Given the description of an element on the screen output the (x, y) to click on. 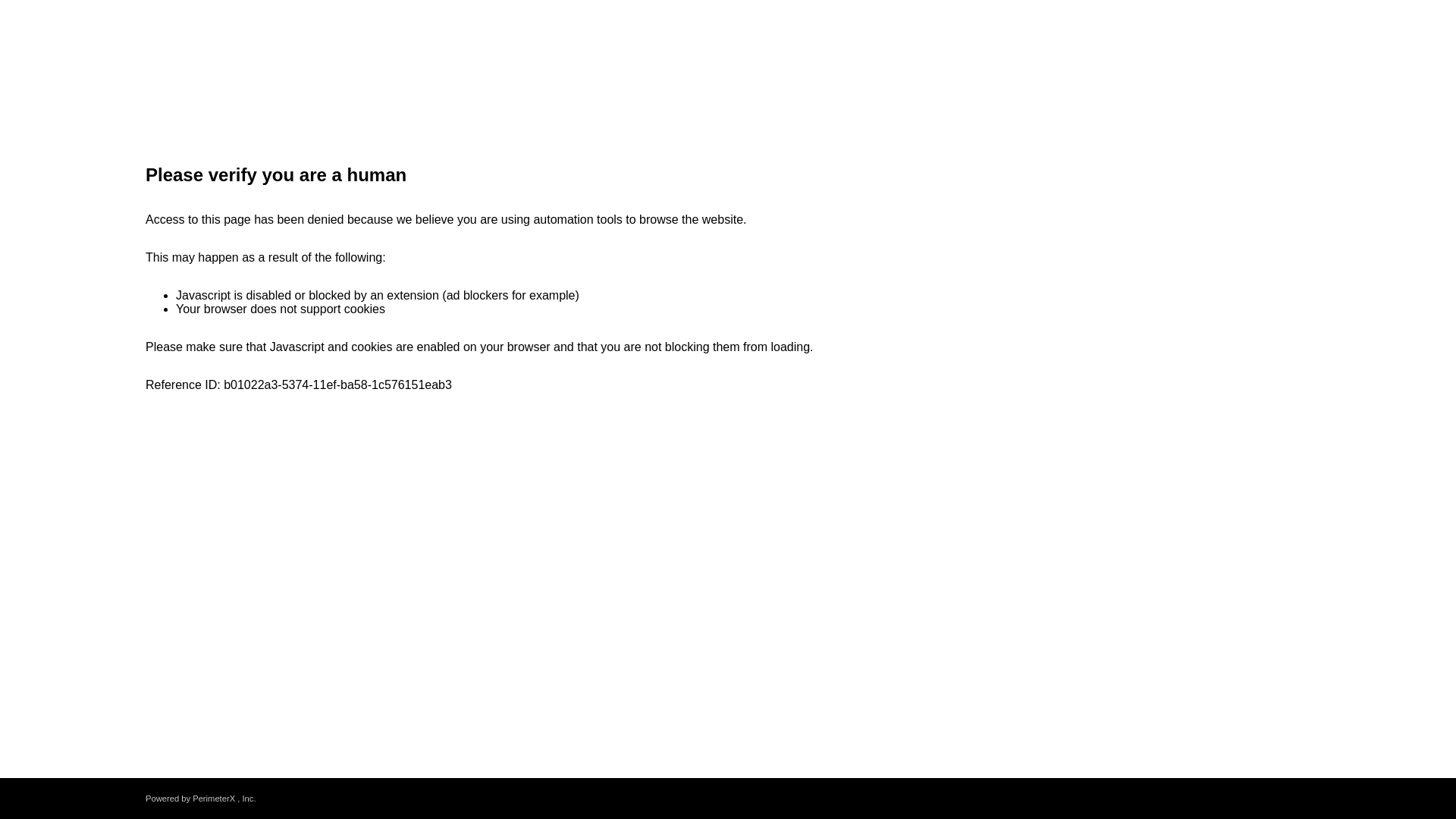
PerimeterX (213, 798)
